Given the description of an element on the screen output the (x, y) to click on. 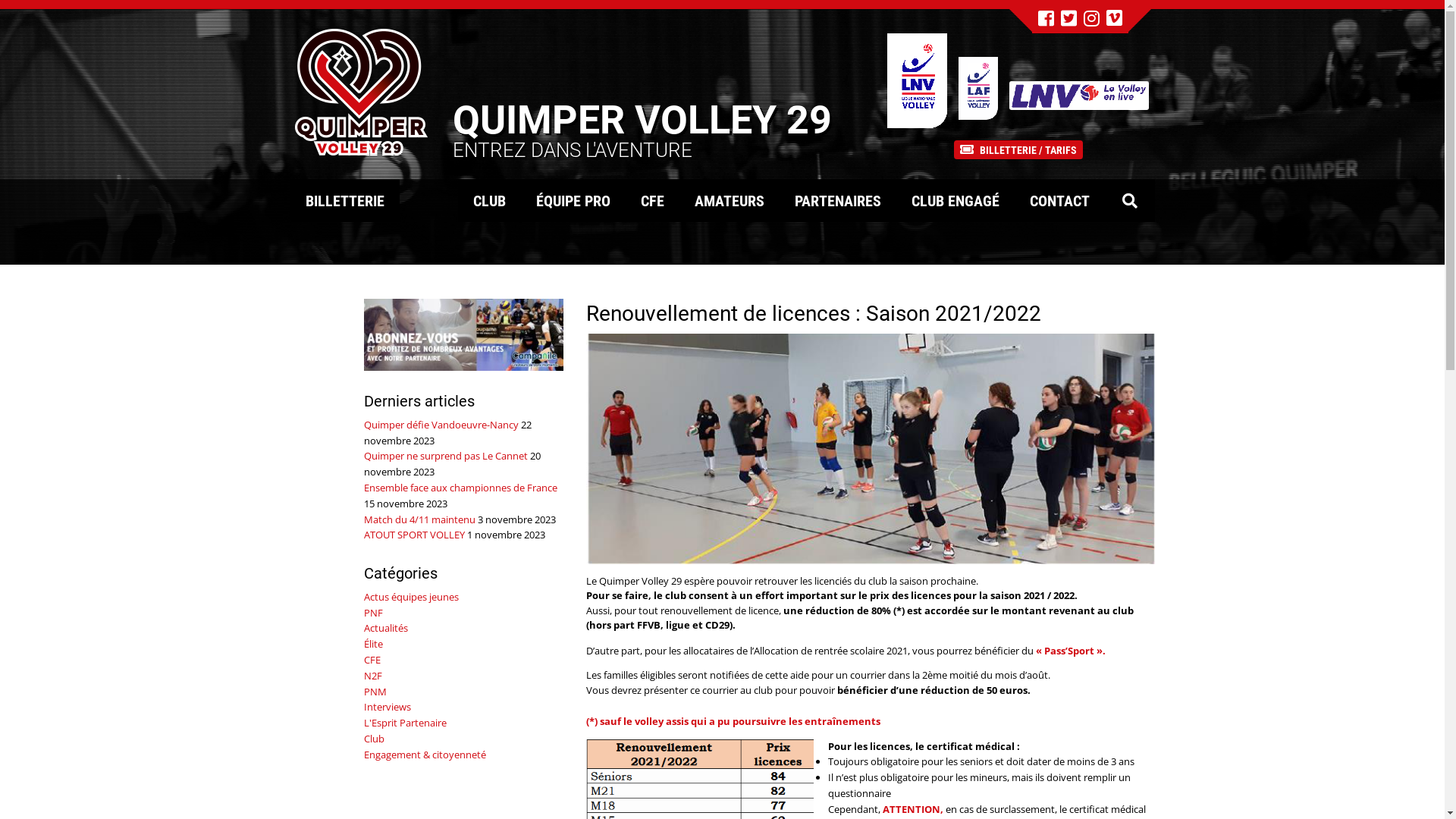
PNM Element type: text (375, 691)
PNF Element type: text (373, 612)
Ensemble face aux championnes de France Element type: text (460, 487)
QUIMPER VOLLEY 29
ENTREZ DANS L'AVENTURE Element type: text (560, 90)
AMATEURS Element type: text (729, 199)
N2F Element type: text (373, 675)
CFE Element type: text (372, 659)
CLUB Element type: text (489, 199)
Quimper ne surprend pas Le Cannet Element type: text (445, 455)
BILLETTERIE Element type: text (343, 199)
BILLETTERIE / TARIFS Element type: text (1017, 149)
CFE Element type: text (651, 199)
L'Esprit Partenaire Element type: text (405, 722)
Interviews Element type: text (387, 706)
CONTACT Element type: text (1059, 199)
ATOUT SPORT VOLLEY Element type: text (414, 534)
PARTENAIRES Element type: text (837, 199)
Match du 4/11 maintenu Element type: text (419, 519)
Club Element type: text (374, 738)
